Given the description of an element on the screen output the (x, y) to click on. 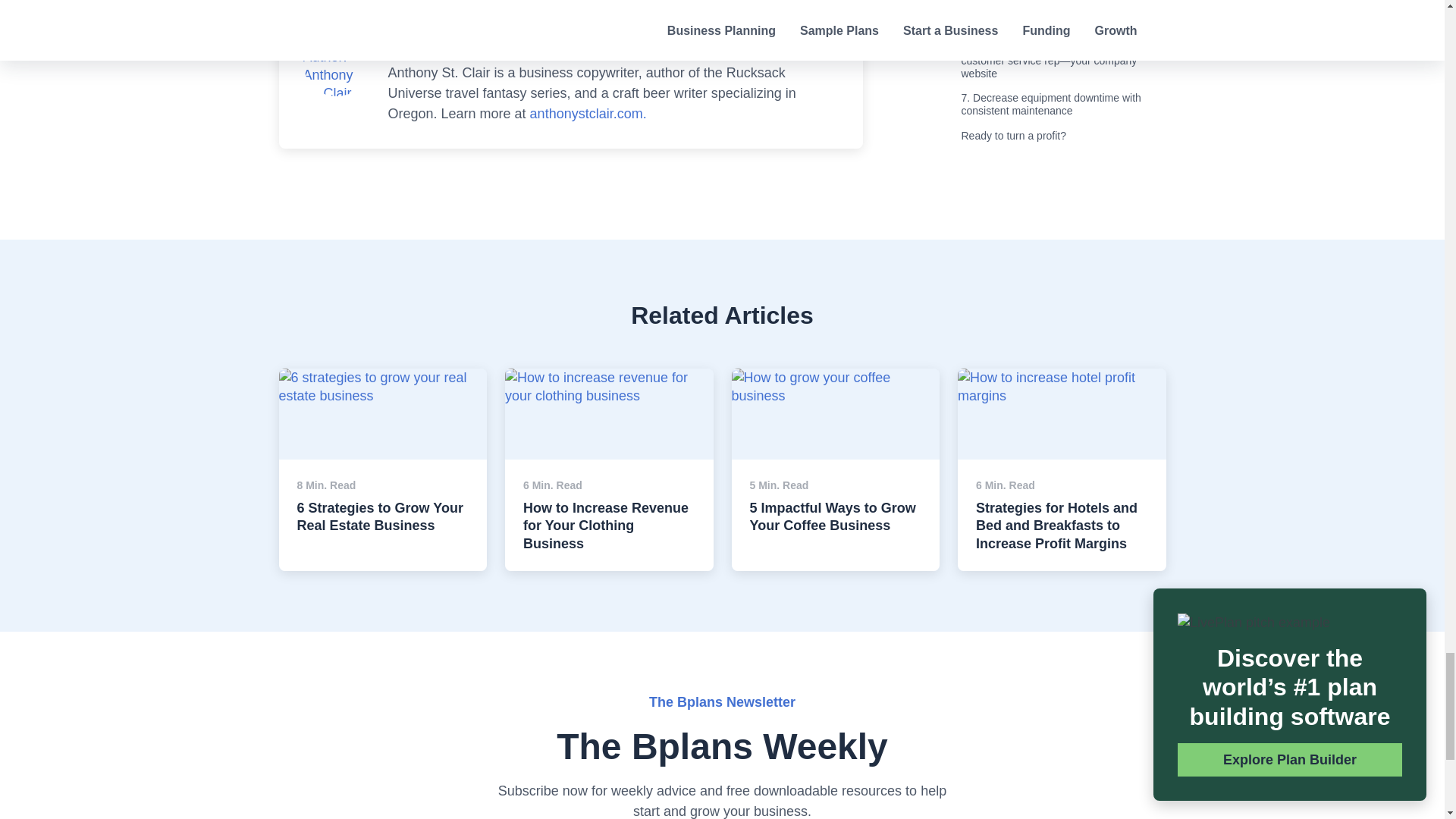
How to increase revenue for your clothing business (609, 386)
How to increase hair salon revenue (383, 386)
6 strategies to grow your real estate business (1062, 386)
How to grow your souvenir shop (833, 378)
Content Author: Anthony St. Clair (335, 65)
